Given the description of an element on the screen output the (x, y) to click on. 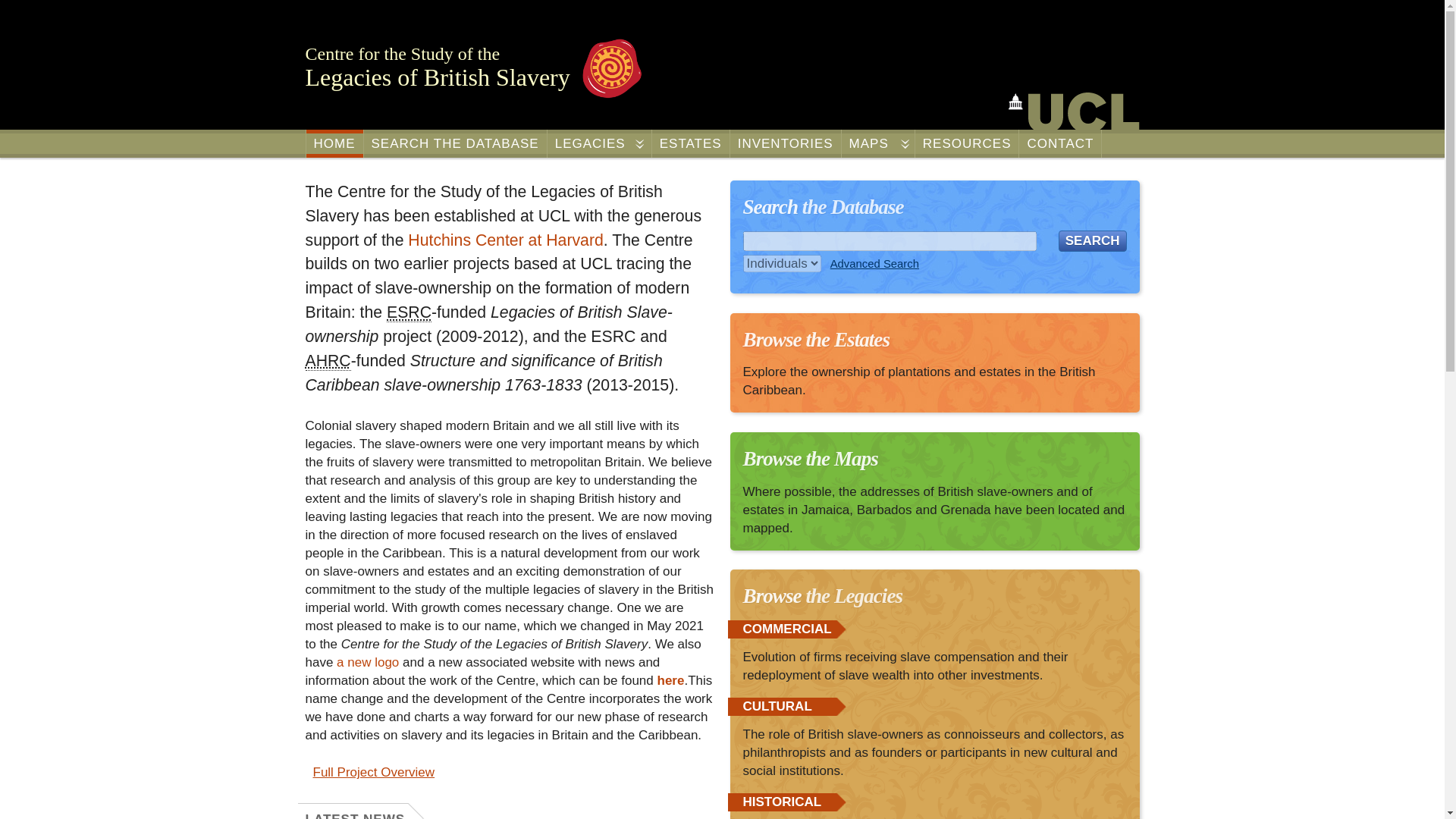
LEGACIES (598, 143)
Browse the Maps (809, 458)
University College London (1074, 110)
Search (1092, 240)
Browse the Estates (815, 339)
Full Project Overview (368, 771)
COMMERCIAL (786, 628)
Search the Database (823, 206)
ESTATES (690, 143)
CULTURAL (777, 706)
RESOURCES (967, 143)
MAPS (877, 143)
Browse the Legacies (822, 595)
INVENTORIES (785, 143)
a new logo (367, 662)
